Given the description of an element on the screen output the (x, y) to click on. 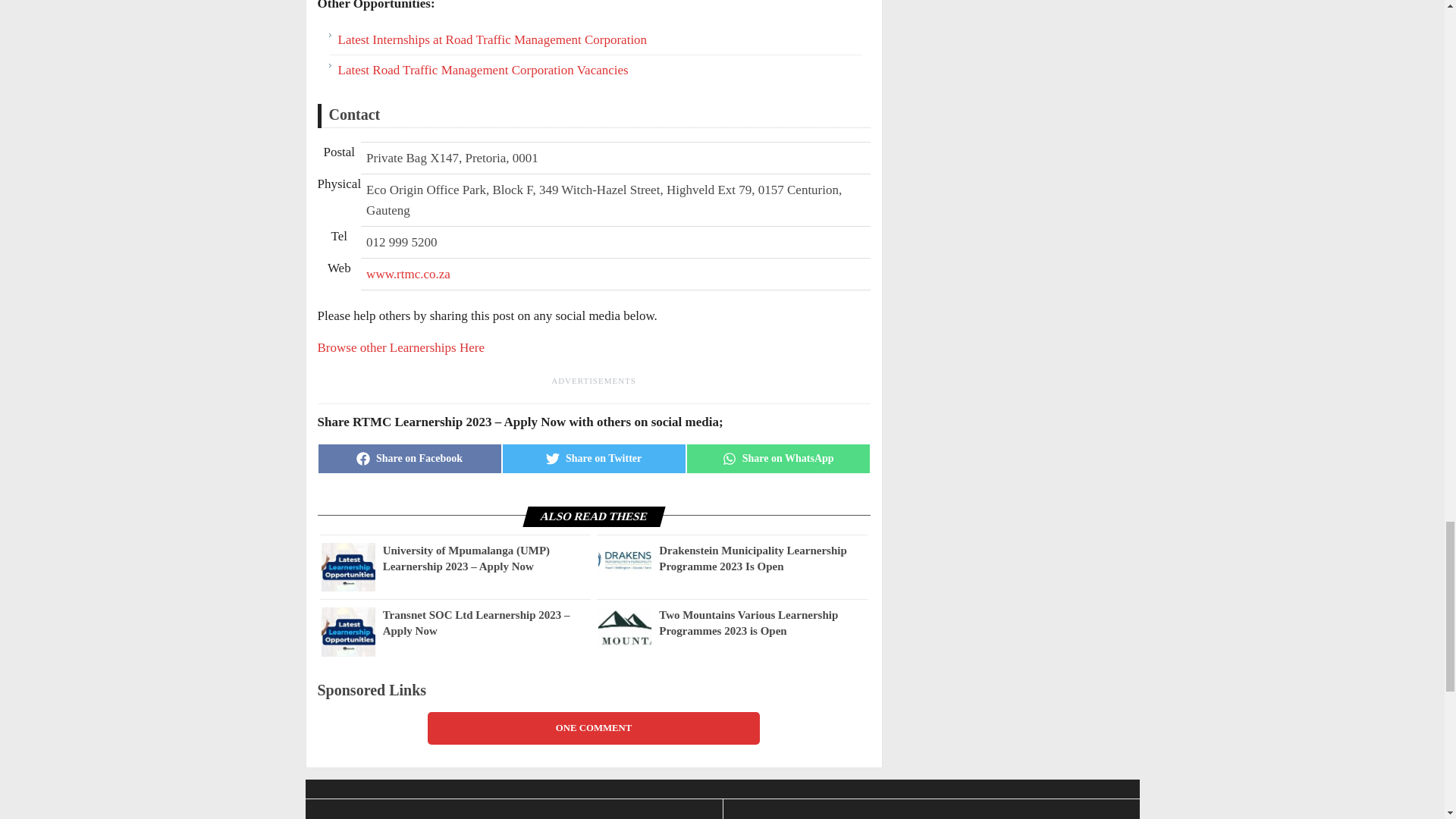
Share on Facebook! (408, 458)
Tweet this! (593, 458)
Drakenstein Municipality Learnership Programme 2023 Is Open (762, 558)
Drakenstein Municipality Learnership Programme 2023 Is Open (623, 559)
